Given the description of an element on the screen output the (x, y) to click on. 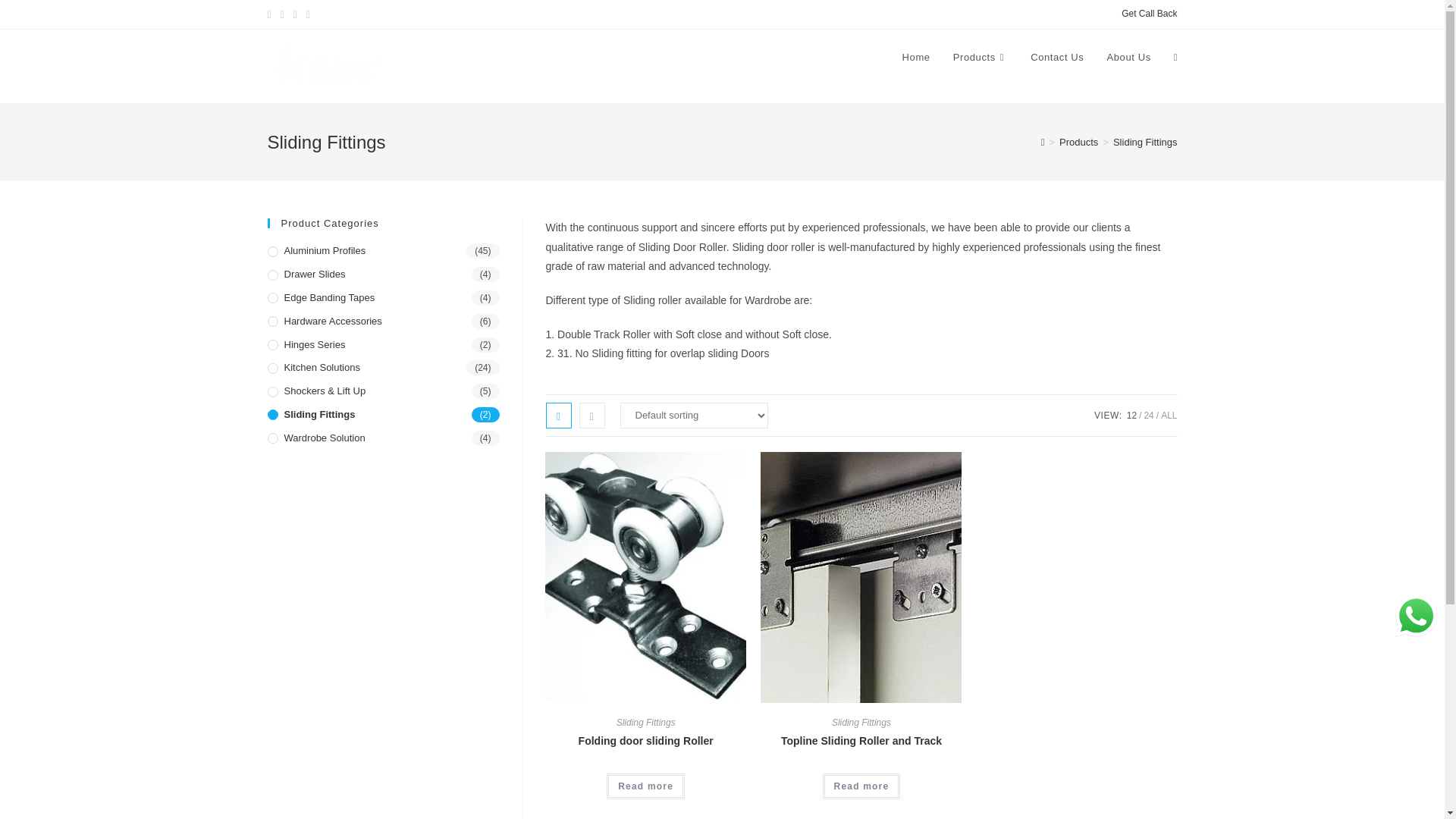
Grid view (559, 414)
Contact Us (1056, 57)
List view (592, 414)
About Us (1127, 57)
Products (980, 57)
Home (916, 57)
Get Call Back (1148, 13)
